Given the description of an element on the screen output the (x, y) to click on. 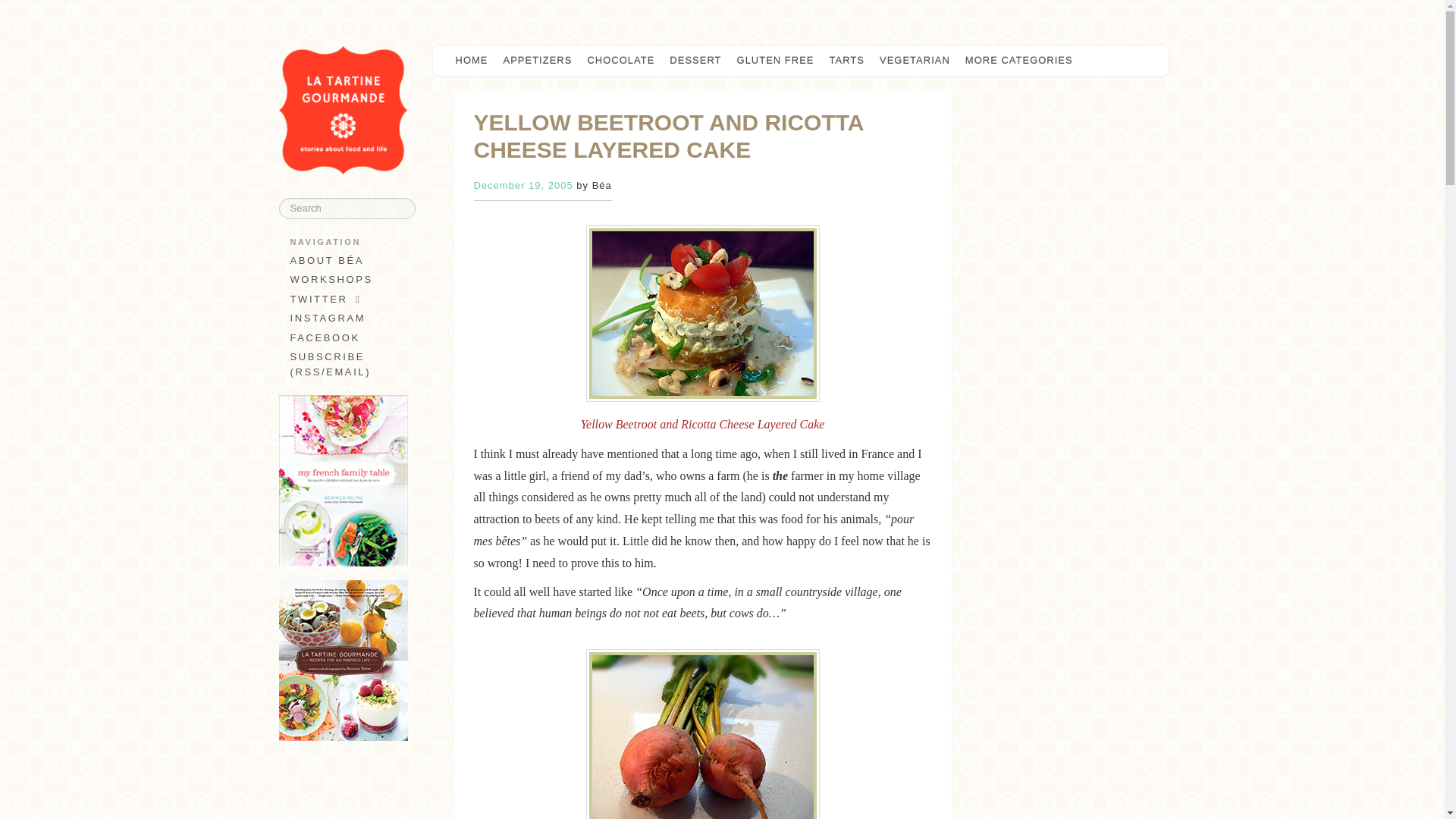
DESSERT (695, 60)
TARTS (847, 60)
YELLOW BEETROOT AND RICOTTA CHEESE LAYERED CAKE (668, 135)
3:57 pm (522, 184)
APPETIZERS (537, 60)
INSTAGRAM (343, 318)
WORKSHOPS (343, 279)
Permalink to Yellow Beetroot and Ricotta Cheese Layered Cake (668, 135)
HOME (470, 60)
FACEBOOK (343, 338)
December 19, 2005 (522, 184)
MORE CATEGORIES (1022, 60)
CHOCOLATE (620, 60)
GLUTEN FREE (775, 60)
TWITTER (343, 299)
